Given the description of an element on the screen output the (x, y) to click on. 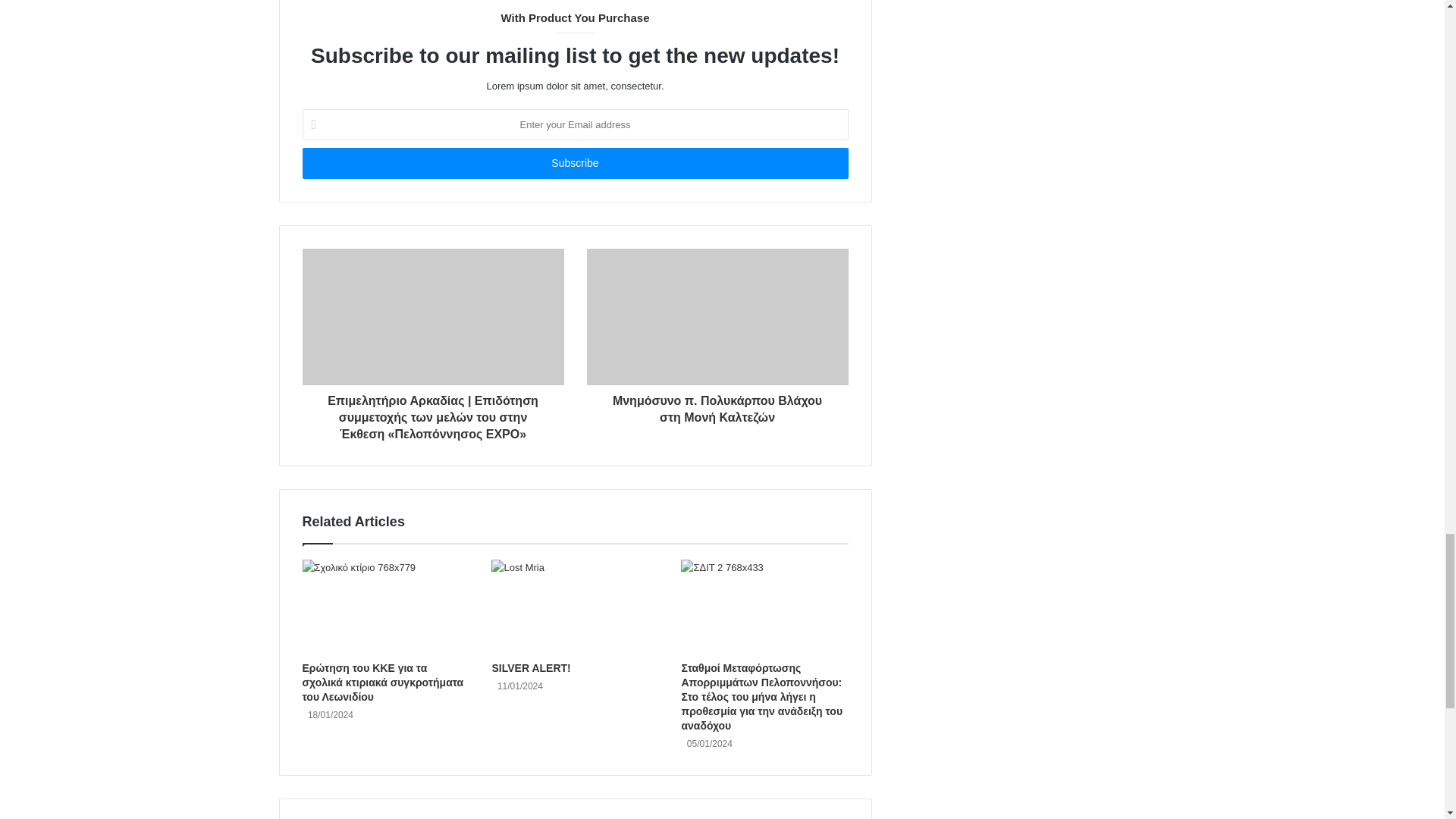
Subscribe (574, 163)
